Given the description of an element on the screen output the (x, y) to click on. 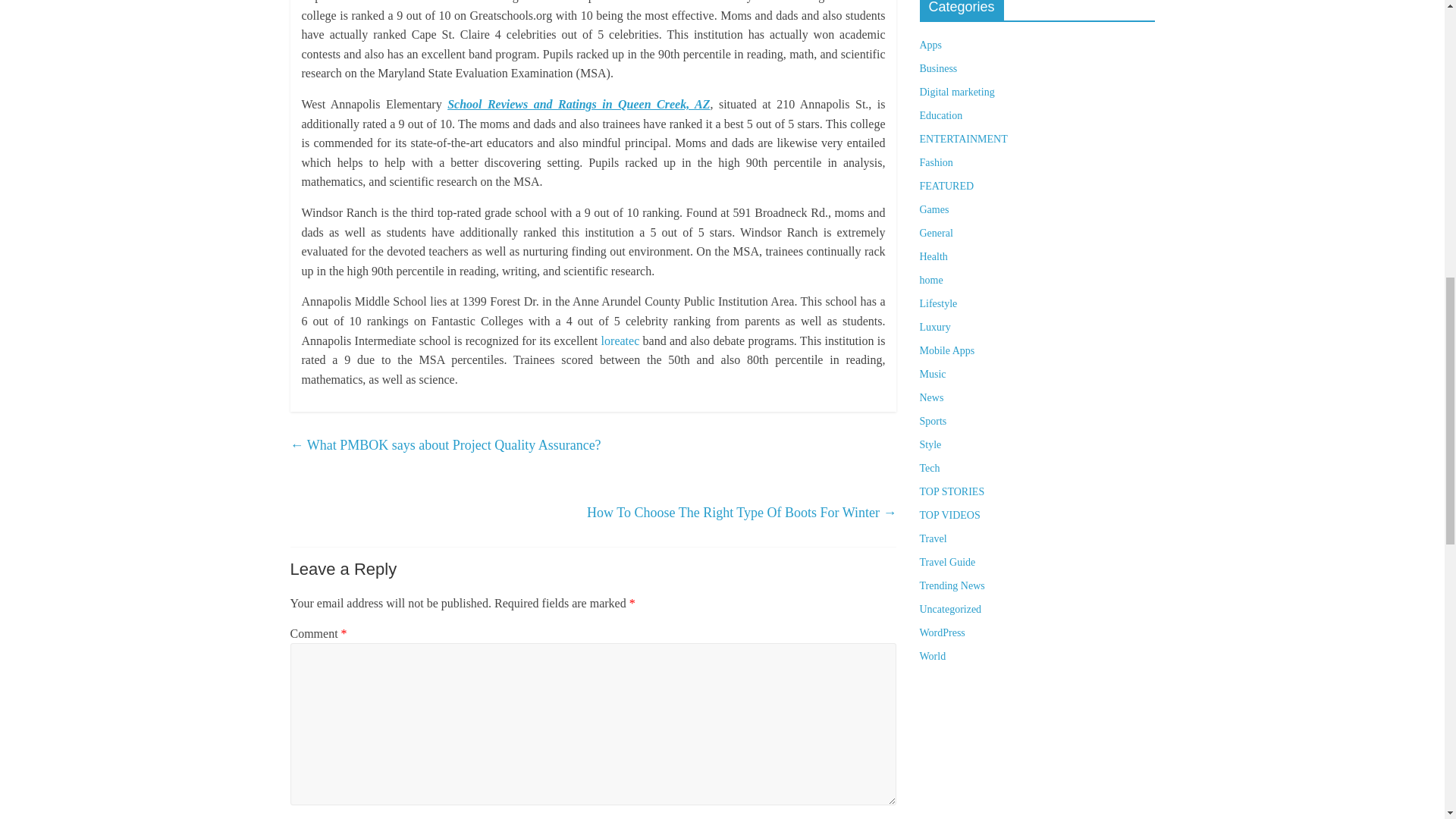
loreatec (620, 340)
School Reviews and Ratings in Queen Creek, AZ (578, 103)
